Given the description of an element on the screen output the (x, y) to click on. 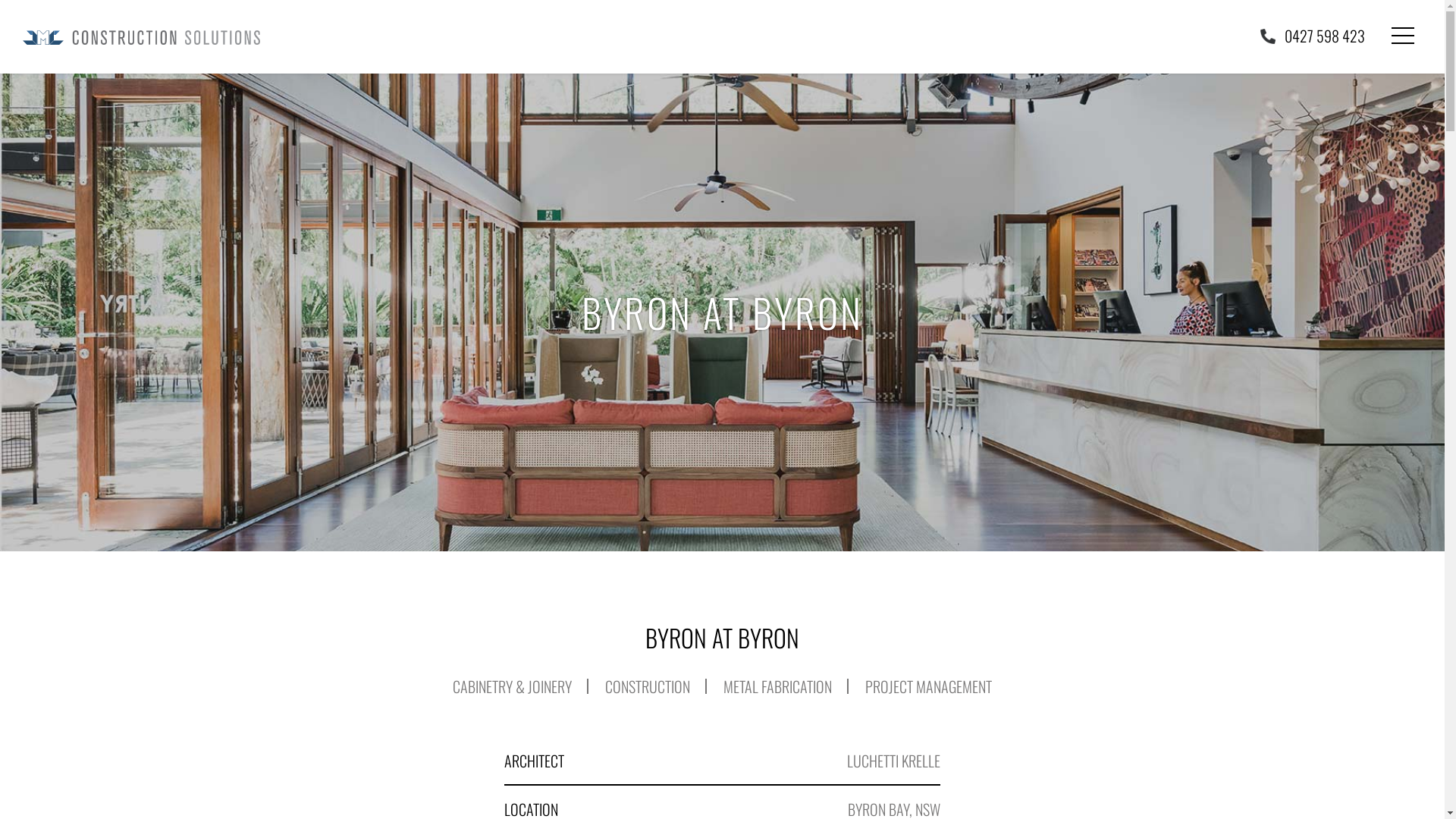
0427 598 423 Element type: text (1312, 35)
